Given the description of an element on the screen output the (x, y) to click on. 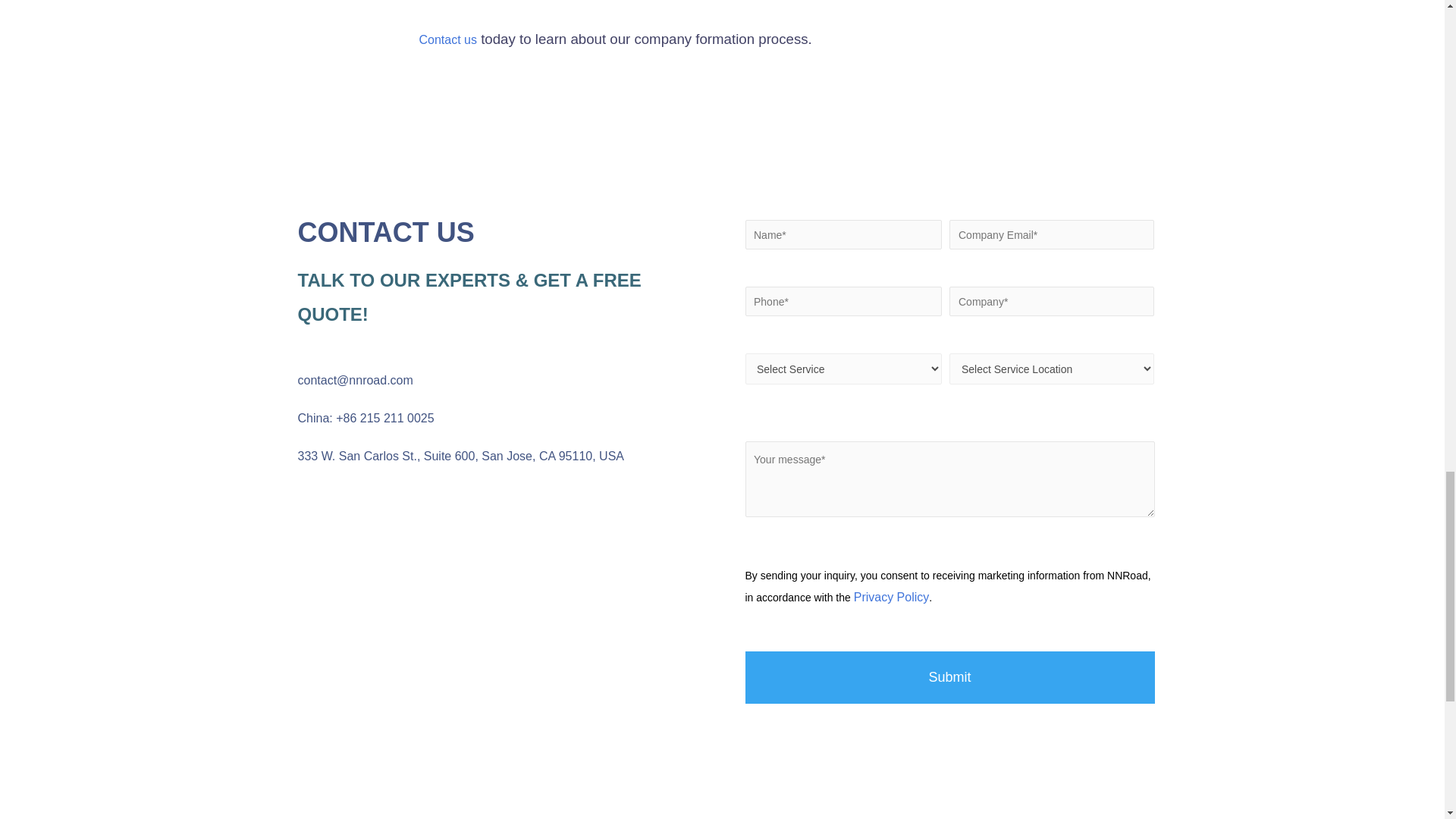
Submit (949, 677)
